Given the description of an element on the screen output the (x, y) to click on. 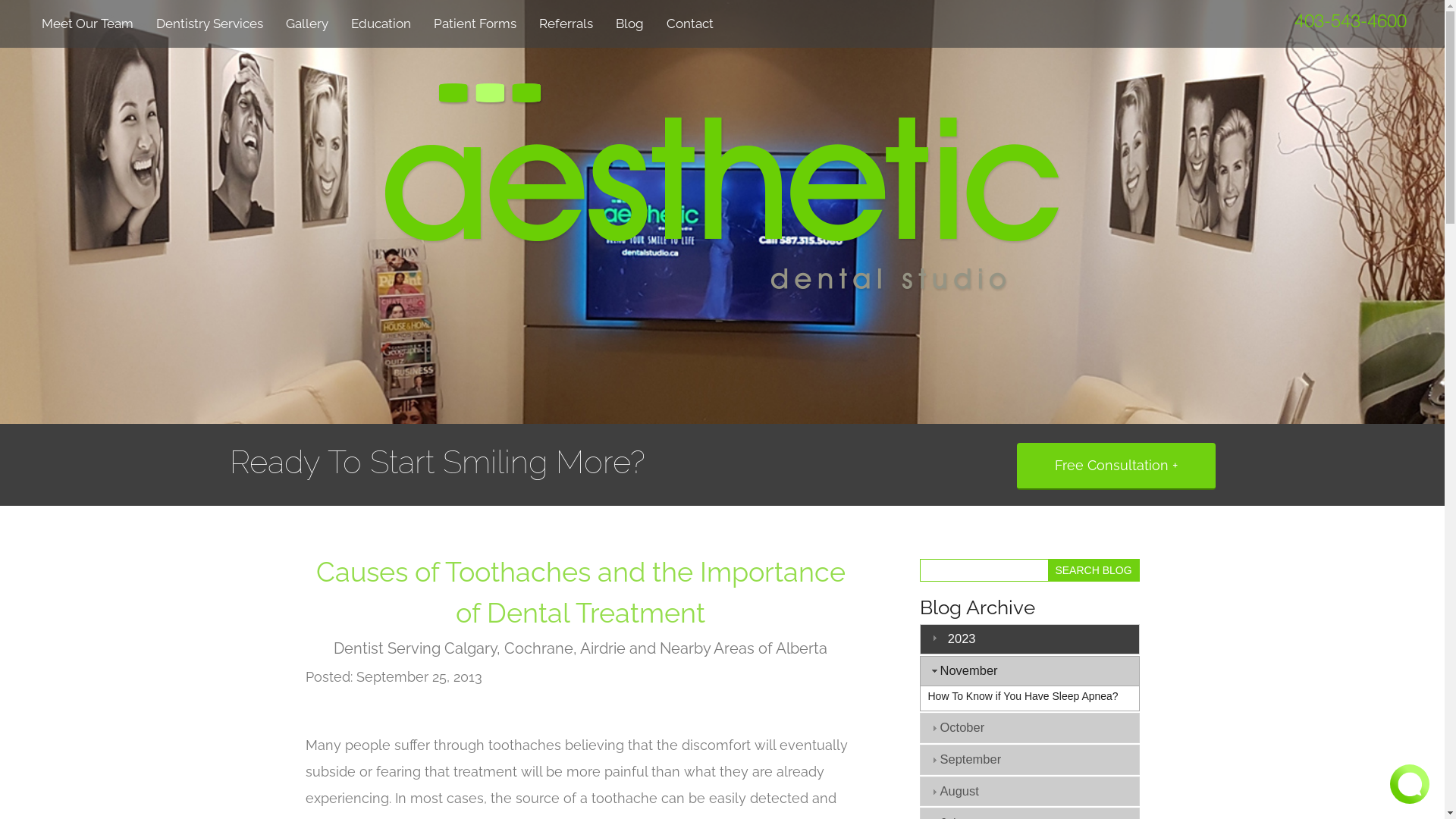
Search Blog Element type: text (1093, 569)
Referrals Element type: text (566, 21)
Home Element type: hover (721, 190)
October Element type: text (962, 727)
Education Element type: text (381, 21)
Contact Element type: text (689, 21)
Blog Element type: text (629, 21)
August Element type: text (959, 790)
Jump to navigation Element type: text (53, 0)
Dentistry Services Element type: text (209, 21)
Gallery Element type: text (306, 21)
Patient Forms Element type: text (474, 21)
Meet Our Team Element type: text (87, 21)
November Element type: text (968, 670)
Free Consultation + Element type: text (1115, 465)
How To Know if You Have Sleep Apnea? Element type: text (1023, 696)
September Element type: text (970, 758)
